Given the description of an element on the screen output the (x, y) to click on. 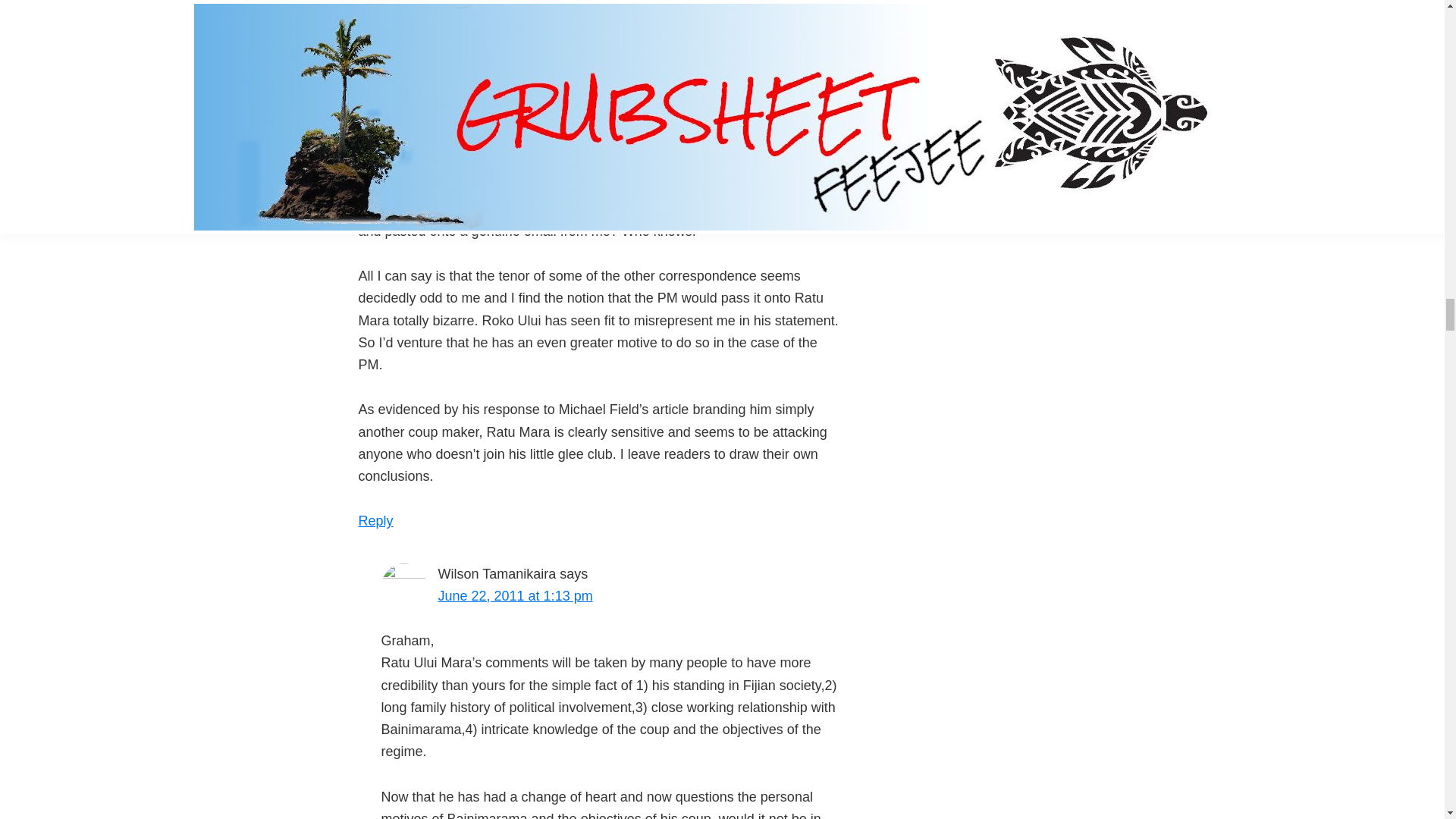
June 22, 2011 at 1:13 pm (515, 595)
Reply (375, 520)
